Given the description of an element on the screen output the (x, y) to click on. 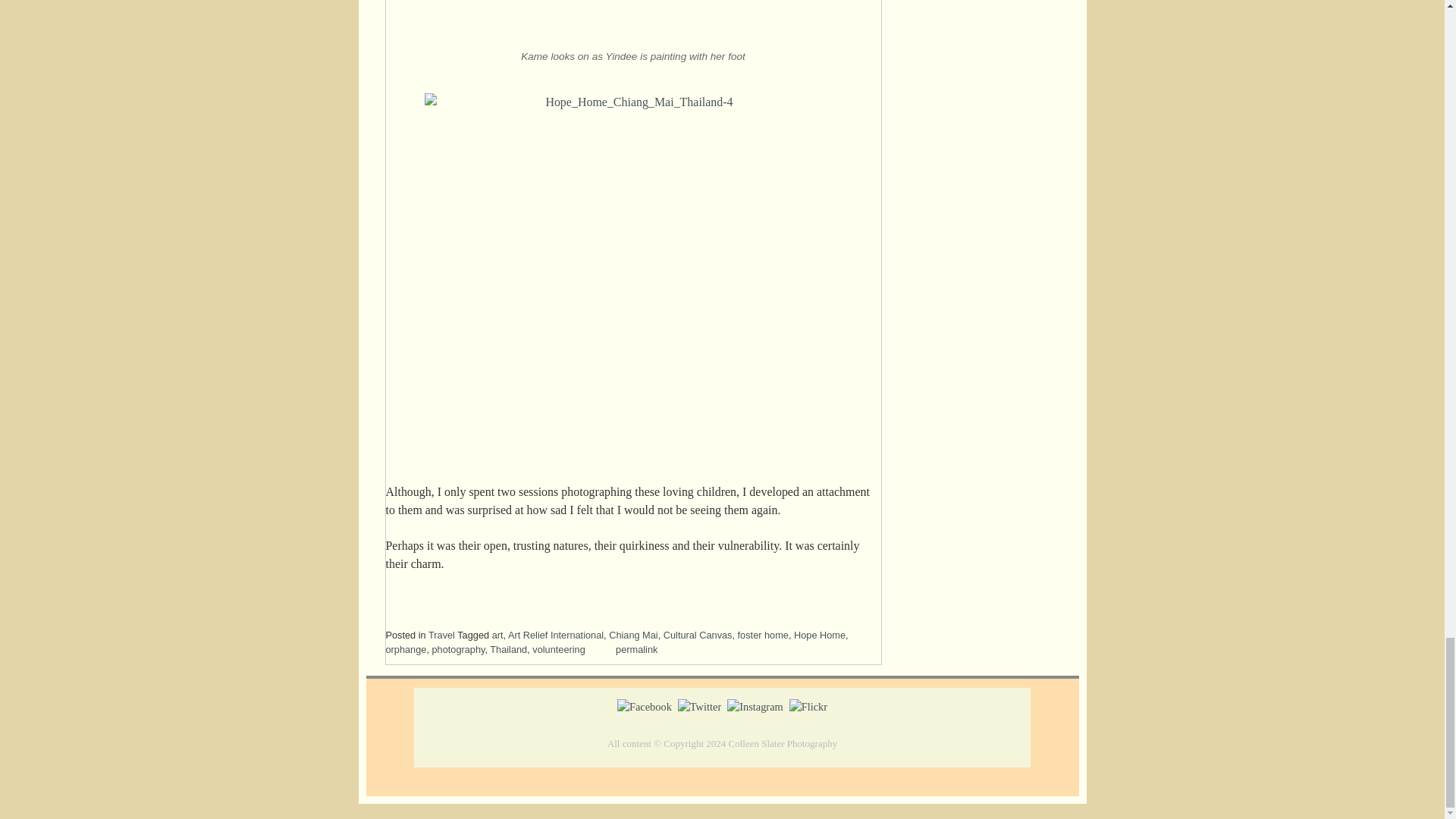
art (497, 634)
foster home (763, 634)
Travel (441, 634)
Permalink to Children of Hope Home, Chiang Mai (636, 649)
orphange (405, 649)
Hope Home (819, 634)
Chiang Mai (633, 634)
Art Relief International (556, 634)
Cultural Canvas (697, 634)
